Given the description of an element on the screen output the (x, y) to click on. 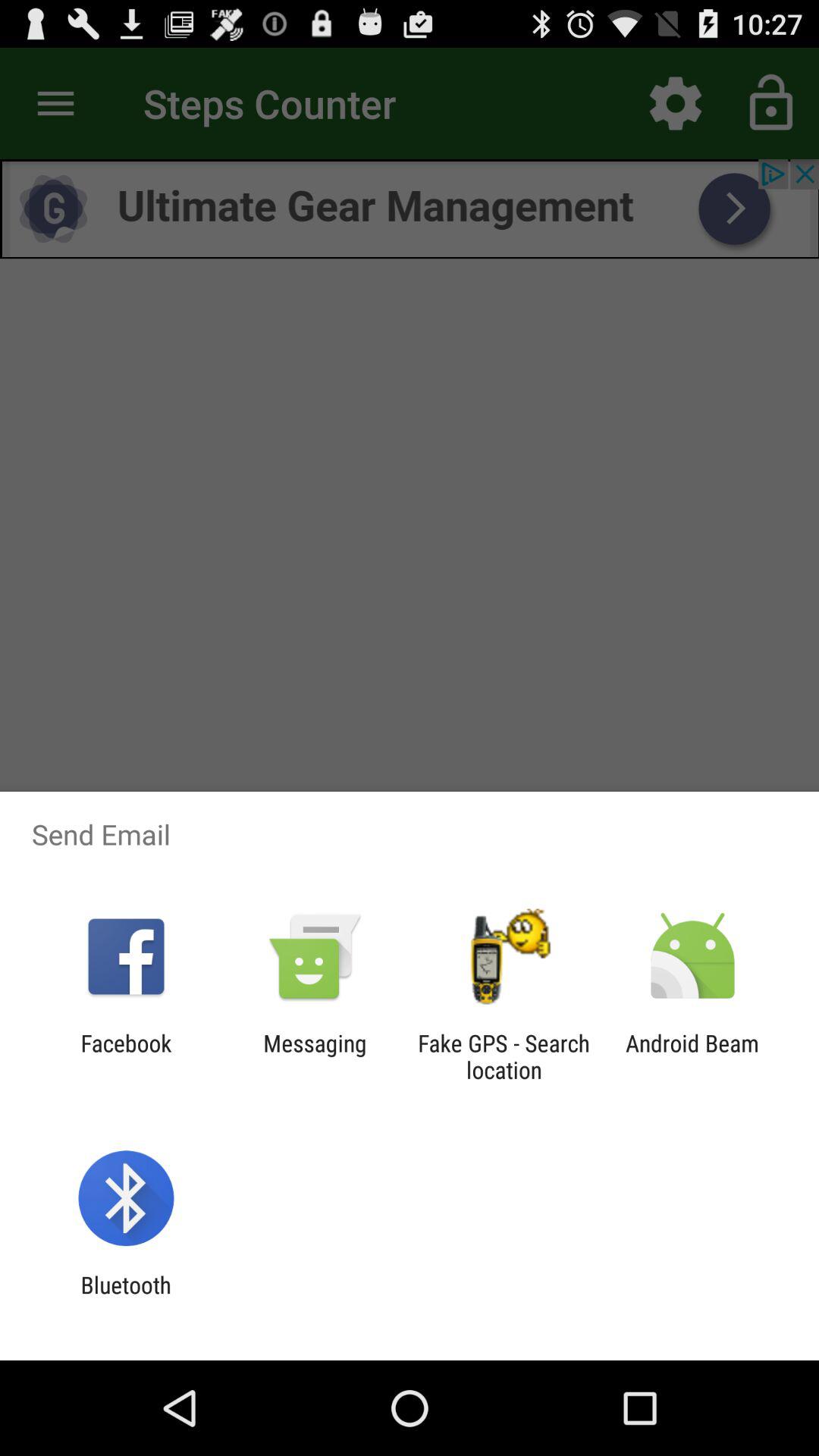
select the fake gps search item (503, 1056)
